Given the description of an element on the screen output the (x, y) to click on. 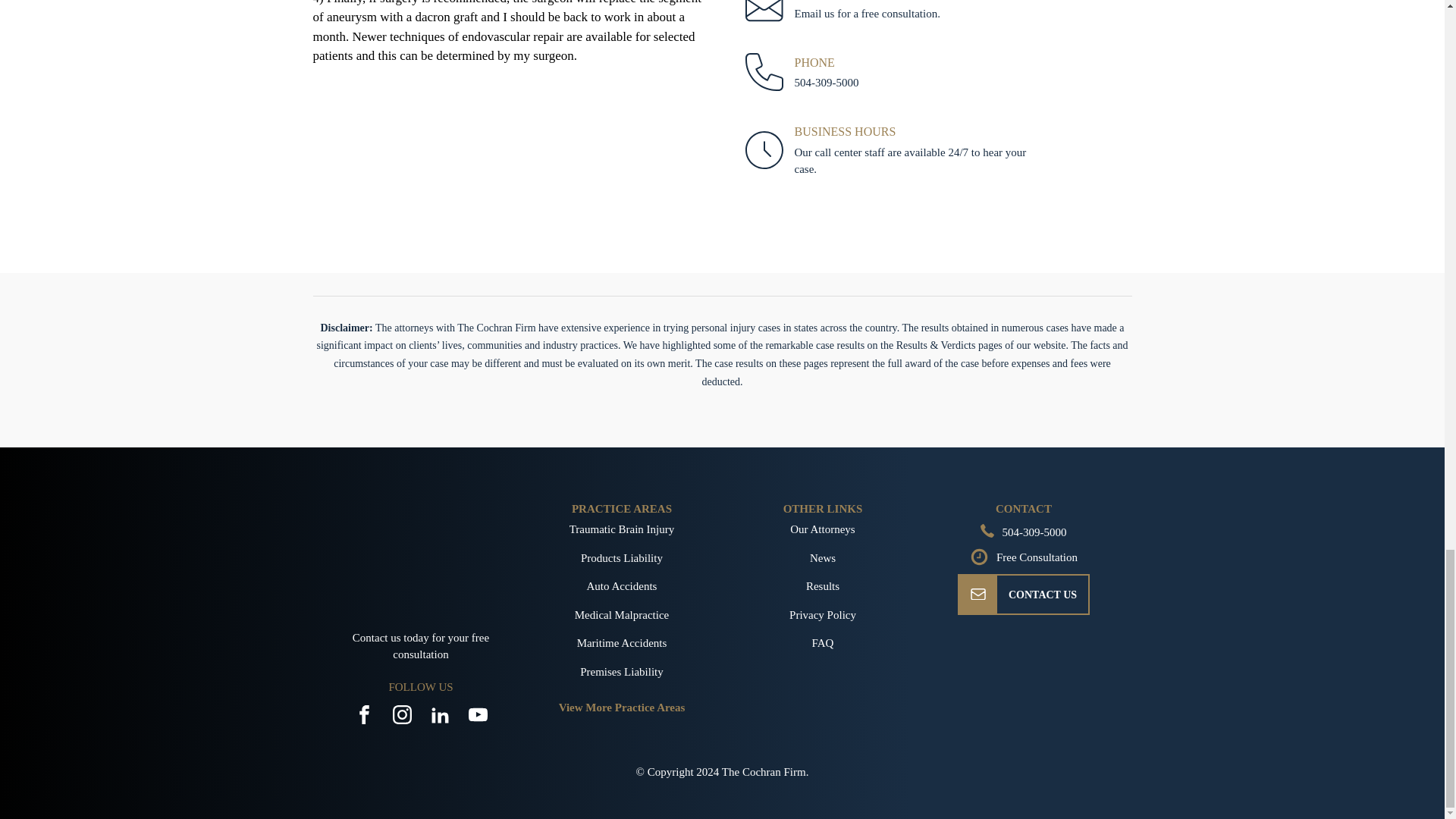
Phone Icon (986, 530)
Envelope Icon (978, 594)
